Given the description of an element on the screen output the (x, y) to click on. 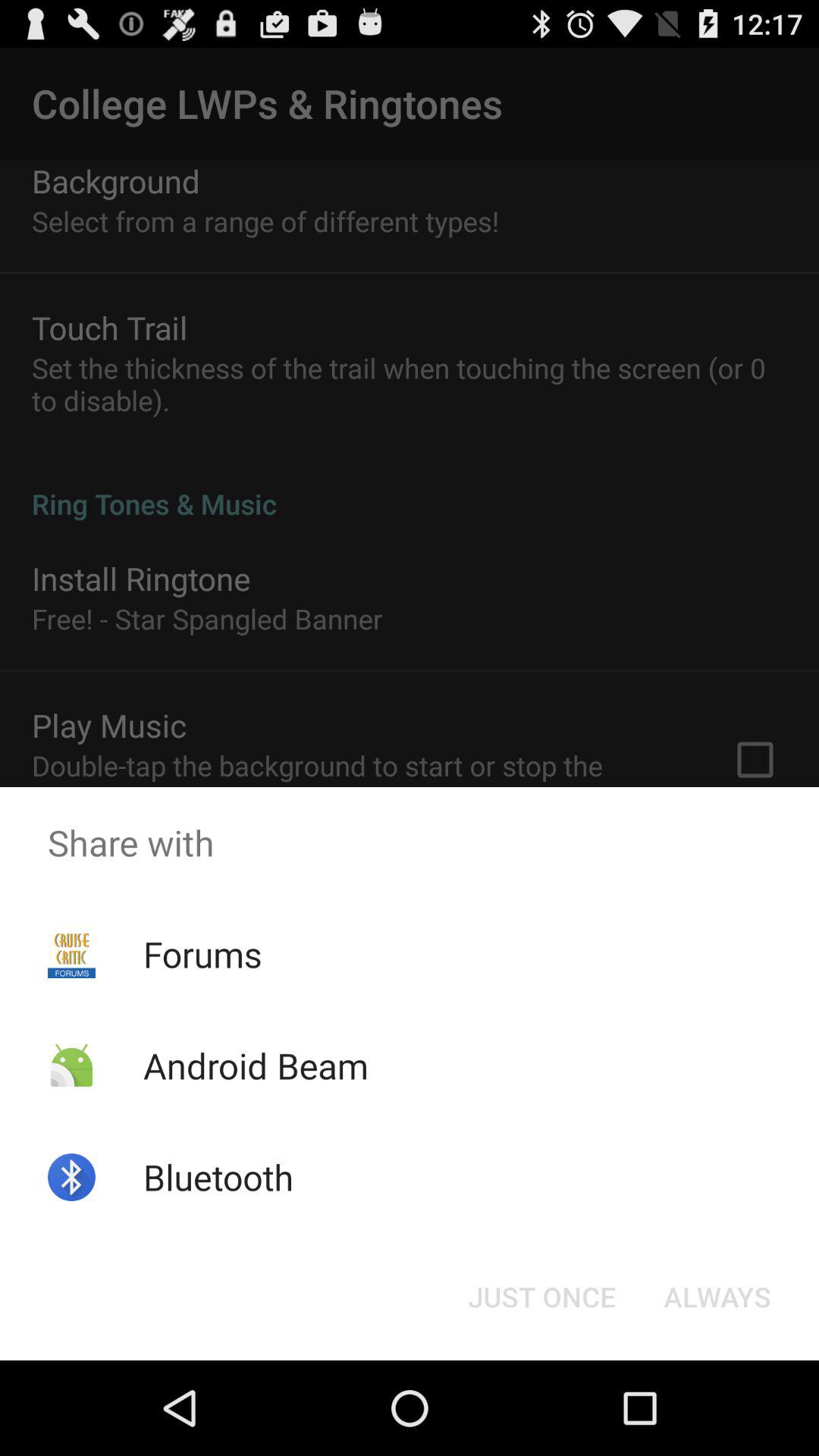
select the item below share with (717, 1296)
